Given the description of an element on the screen output the (x, y) to click on. 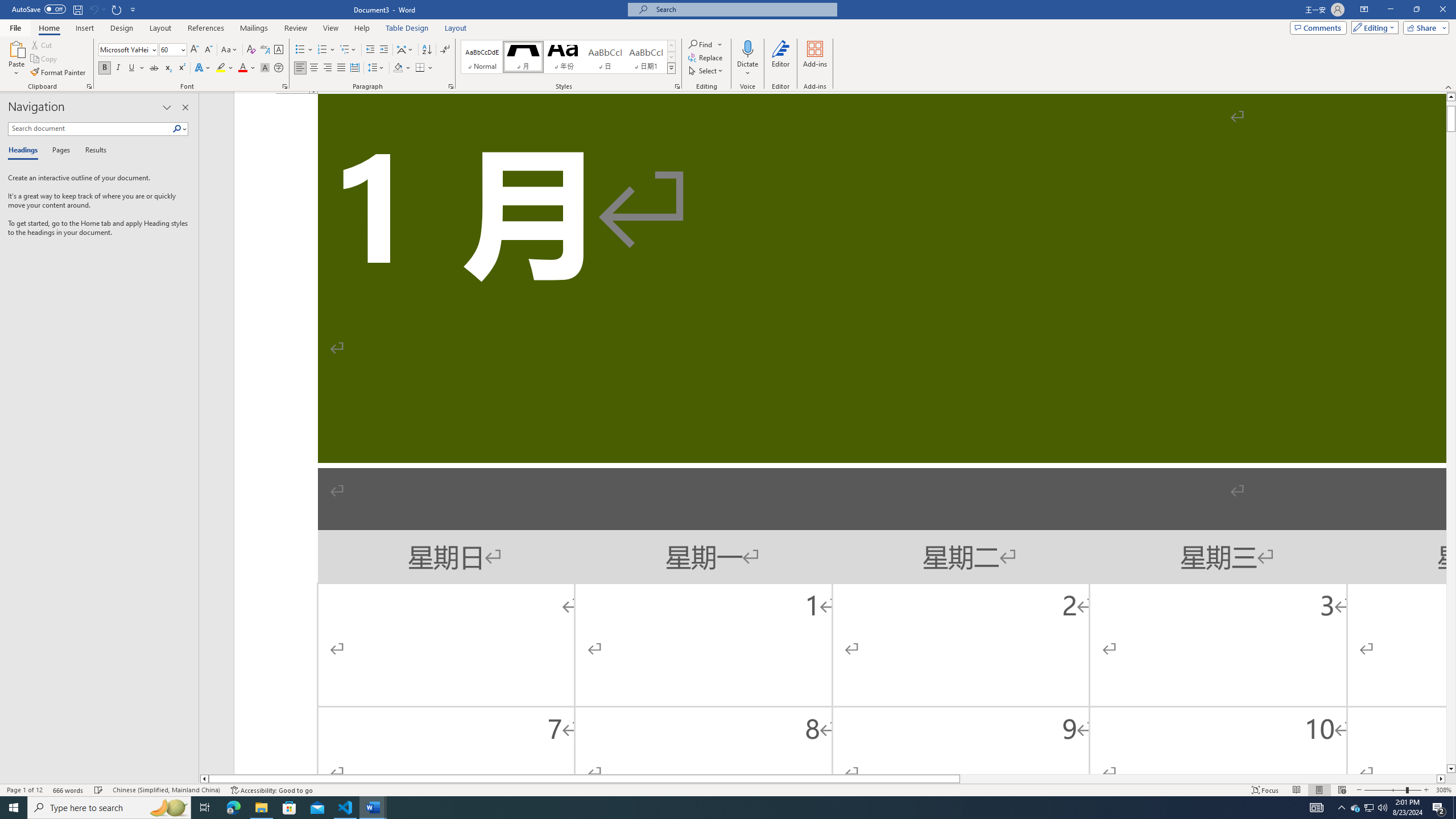
Page Number Page 1 of 12 (24, 790)
Can't Undo (96, 9)
